Given the description of an element on the screen output the (x, y) to click on. 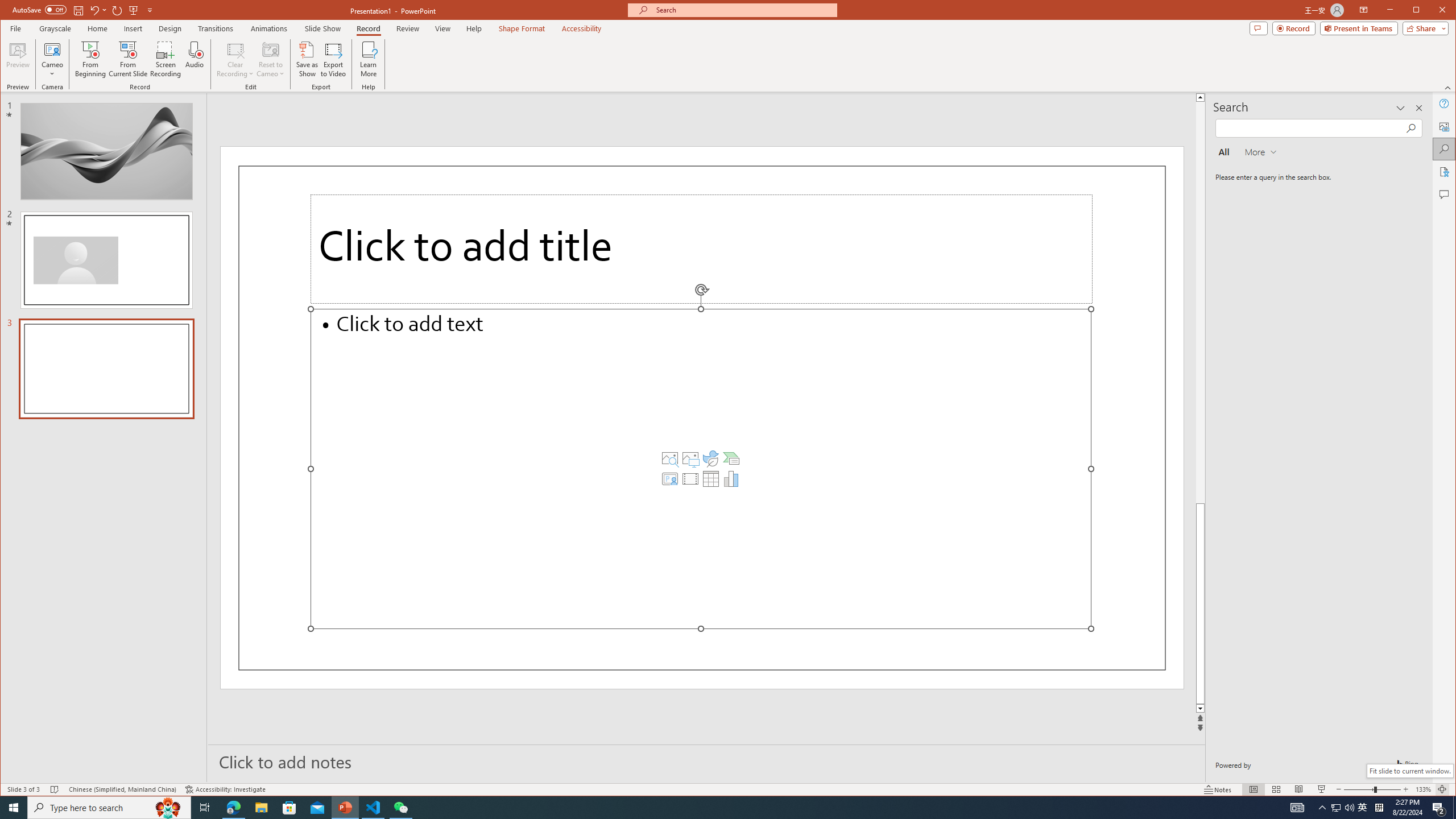
Insert Chart (731, 479)
